Given the description of an element on the screen output the (x, y) to click on. 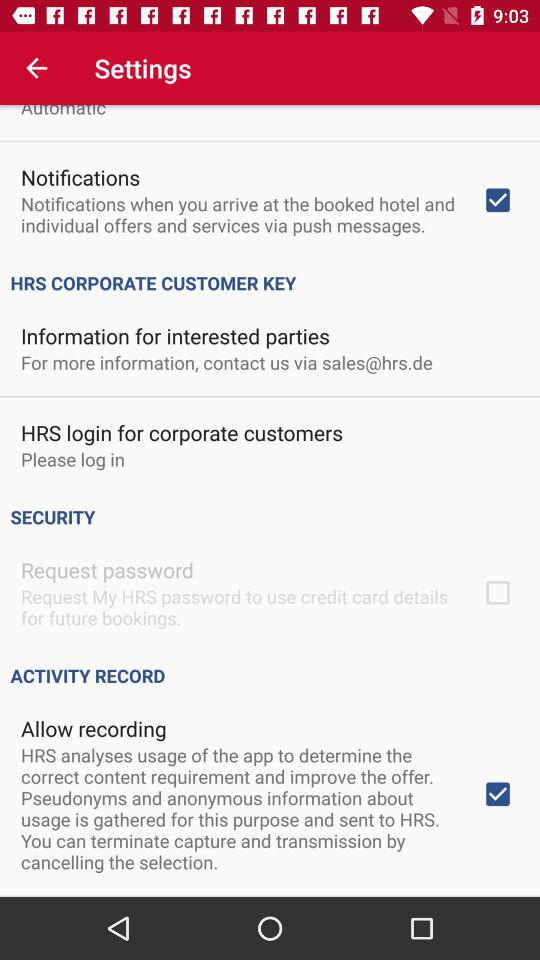
go to previous page (36, 68)
